Given the description of an element on the screen output the (x, y) to click on. 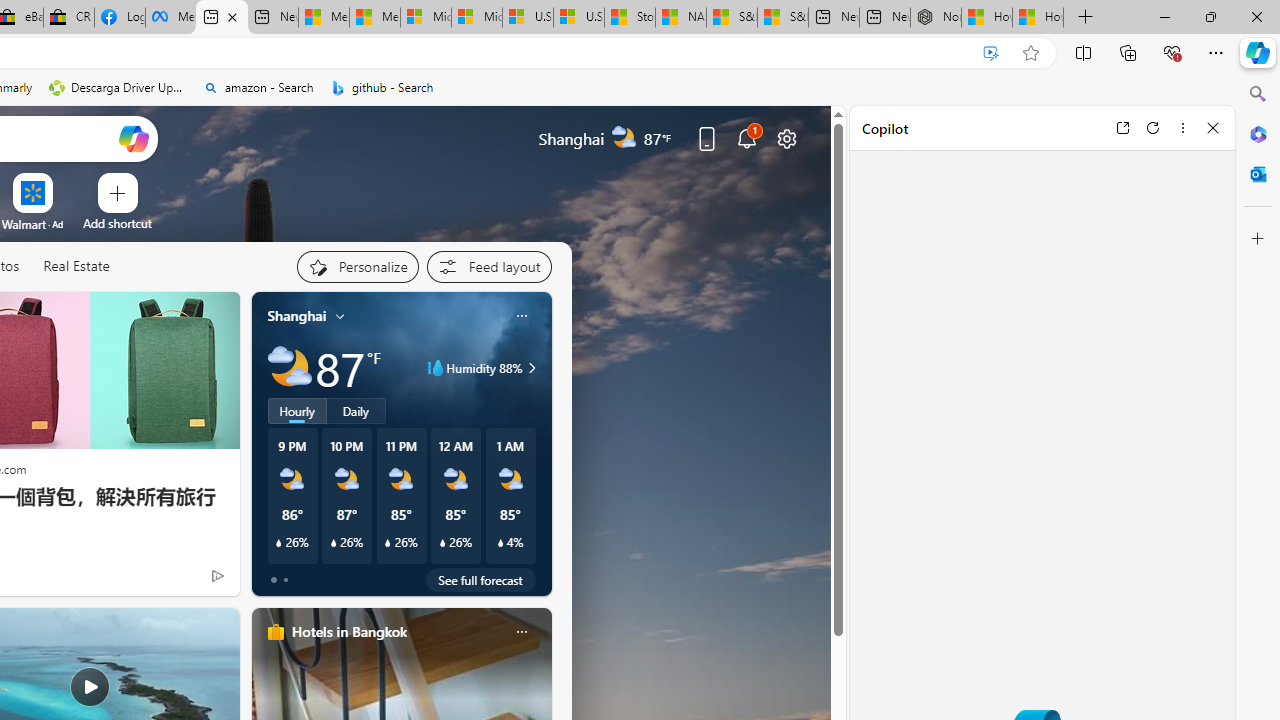
Ad (58, 224)
tab-1 (285, 579)
Add this page to favorites (Ctrl+D) (1030, 53)
Browser essentials (1171, 52)
Close tab (232, 16)
Search (1258, 94)
Personalize your feed" (356, 266)
Class: icon-img (521, 632)
Collections (1128, 52)
Real Estate (76, 265)
amazon - Search (258, 88)
Hourly (296, 411)
